Given the description of an element on the screen output the (x, y) to click on. 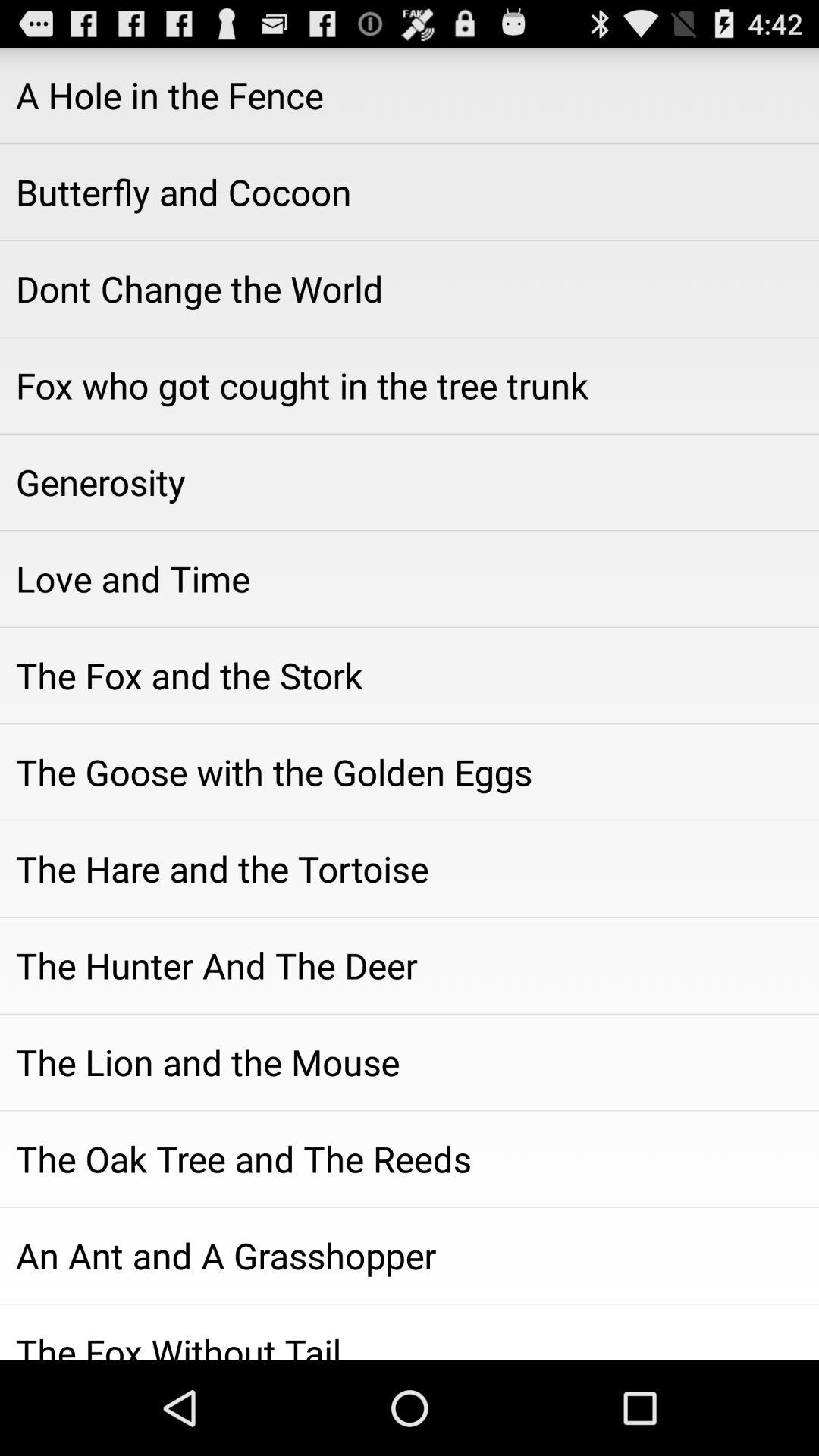
flip to the a hole in app (409, 95)
